Given the description of an element on the screen output the (x, y) to click on. 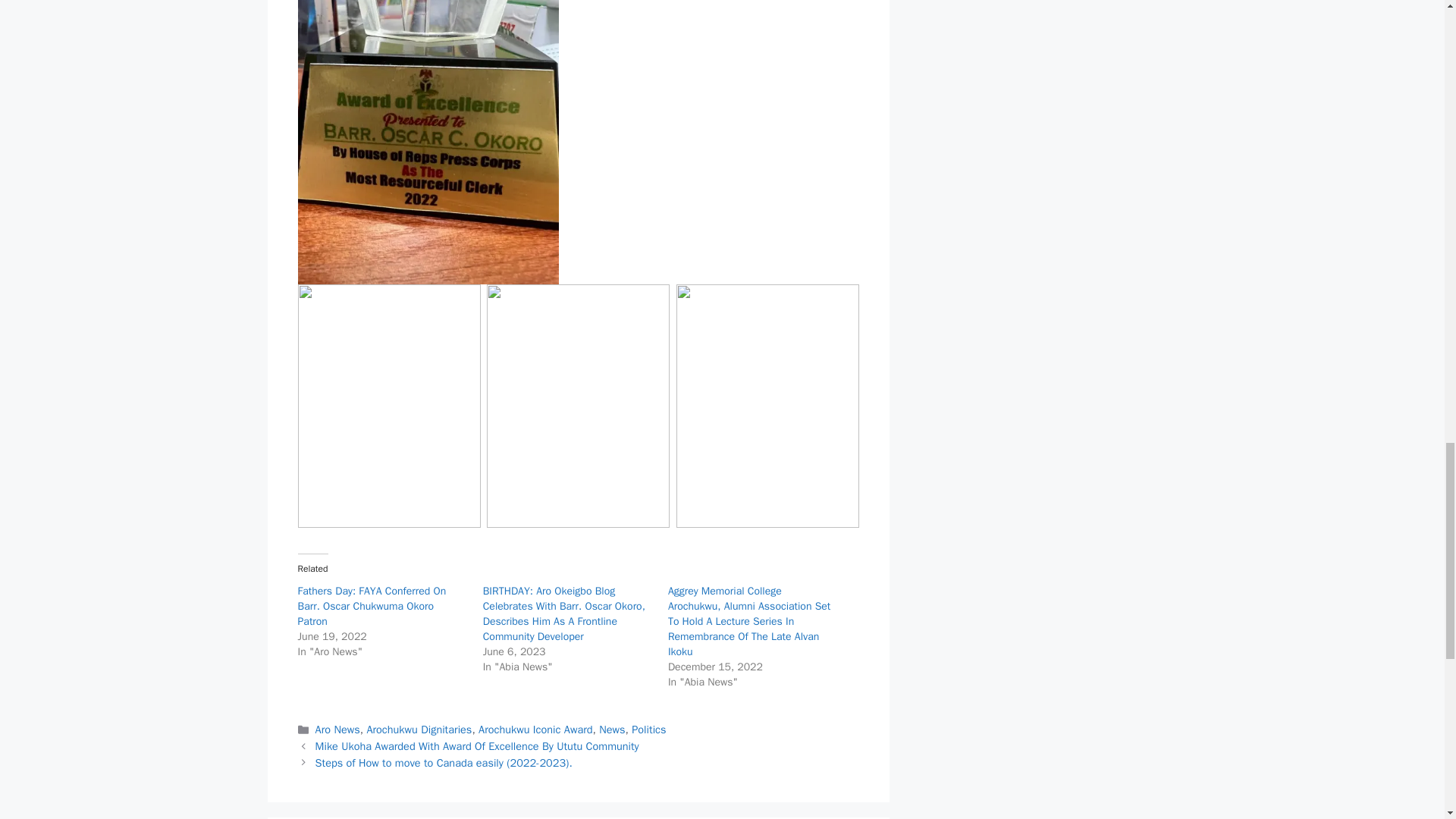
Arochukwu Dignitaries (418, 729)
Aro News (337, 729)
Politics (648, 729)
News (611, 729)
